Given the description of an element on the screen output the (x, y) to click on. 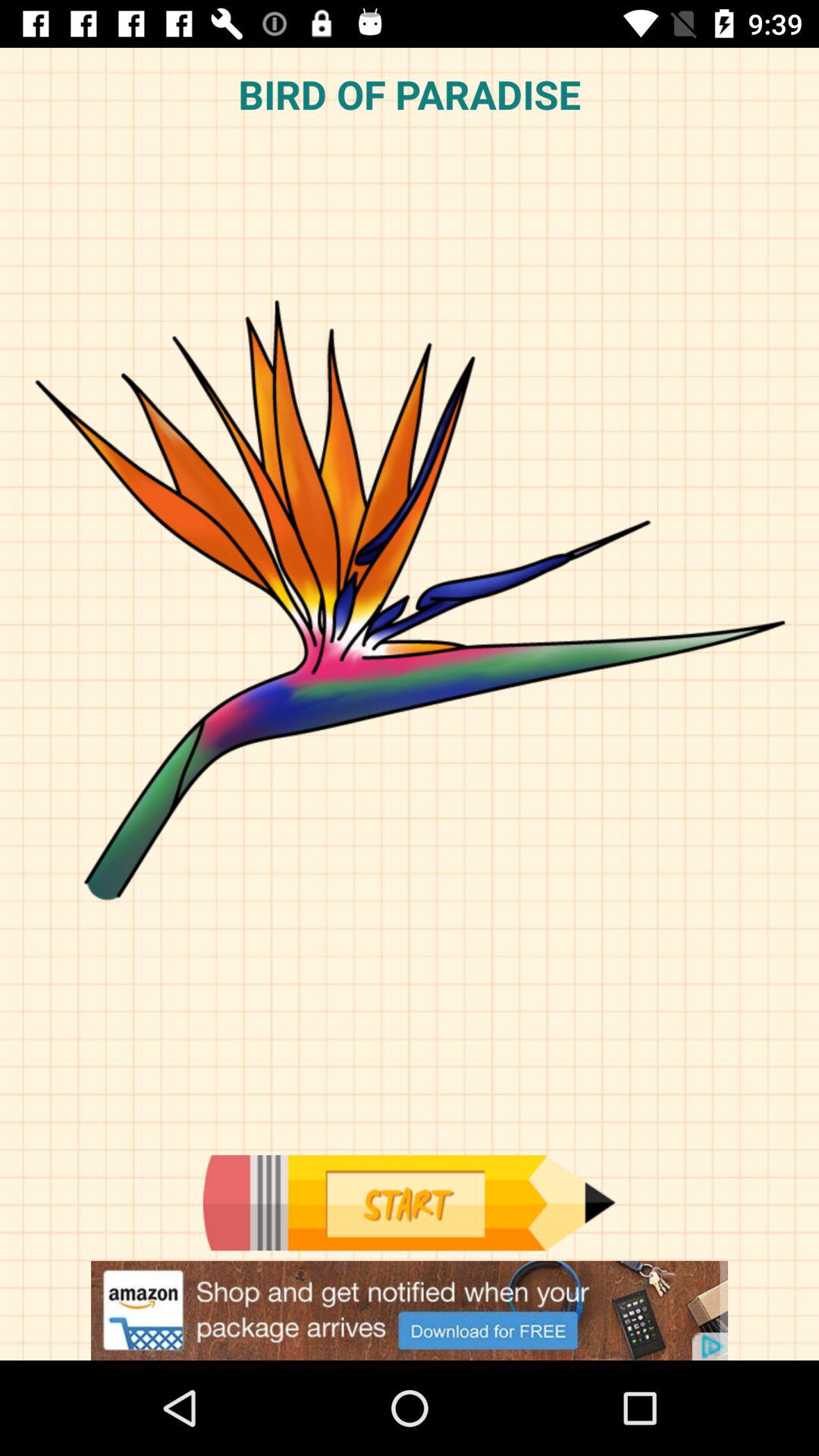
start application (409, 1202)
